Given the description of an element on the screen output the (x, y) to click on. 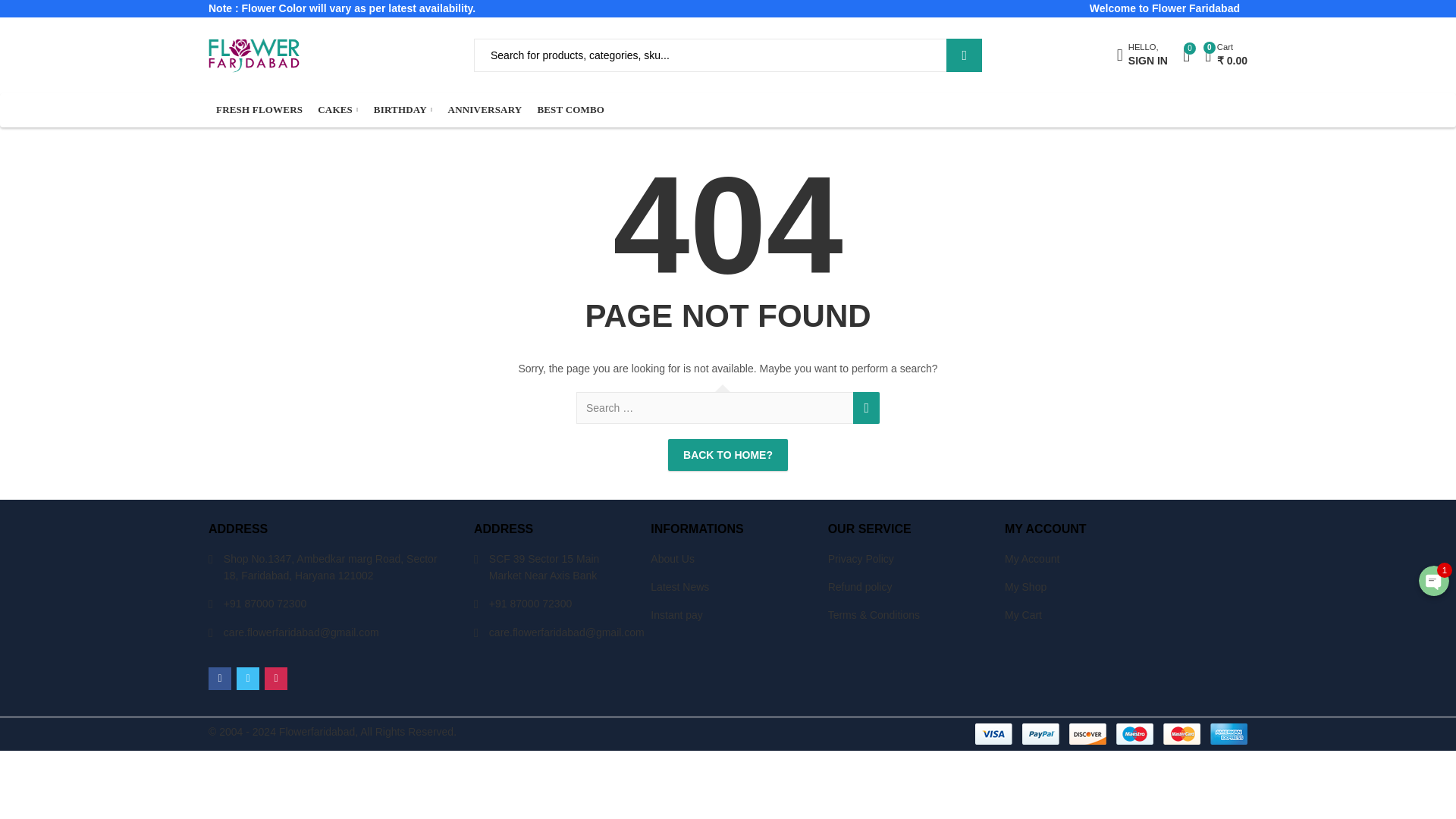
FRESH FLOWERS (259, 110)
CAKES (338, 110)
SEARCH (1141, 55)
BIRTHDAY (963, 55)
